Given the description of an element on the screen output the (x, y) to click on. 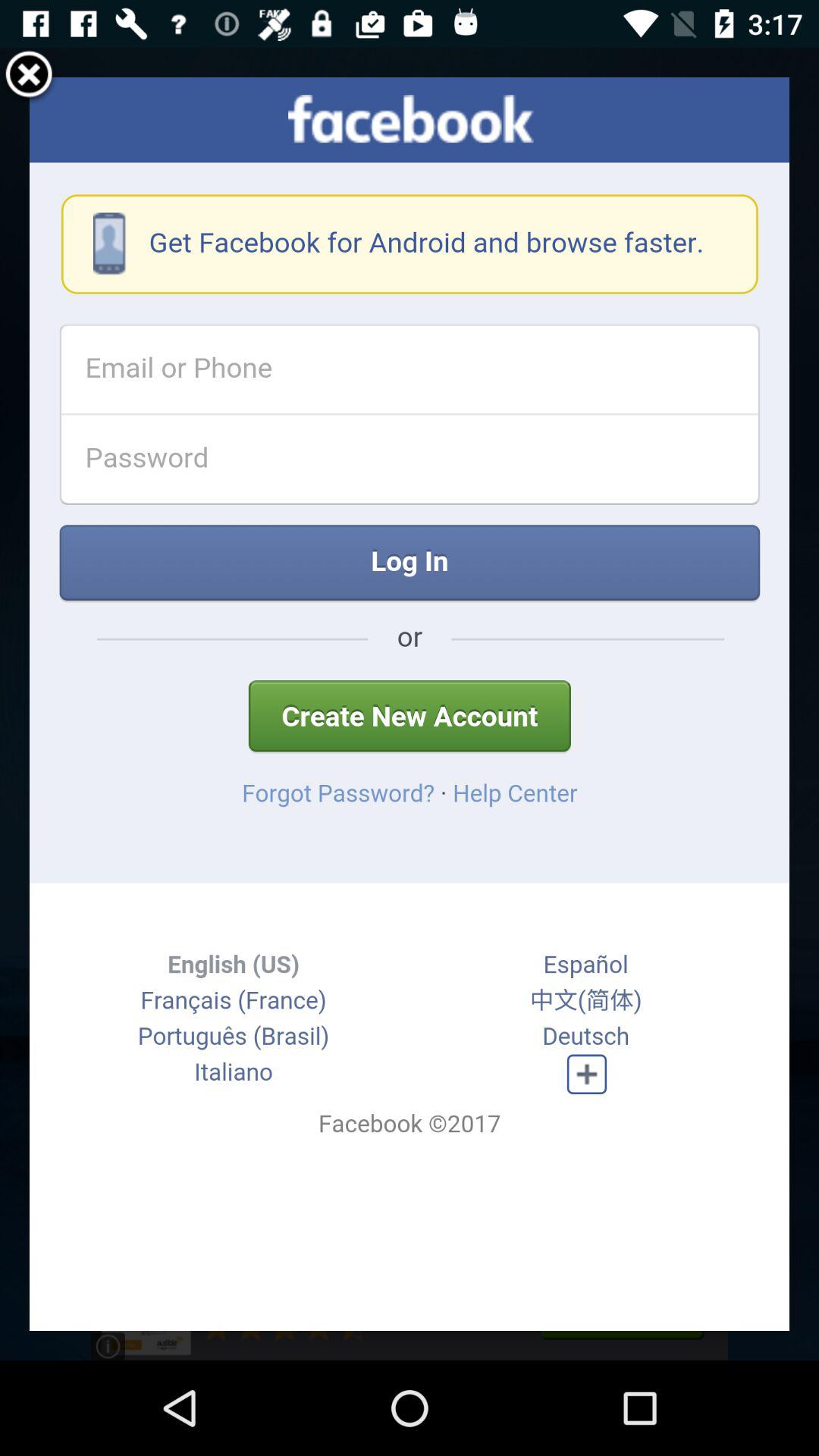
go to facebook page (409, 703)
